Given the description of an element on the screen output the (x, y) to click on. 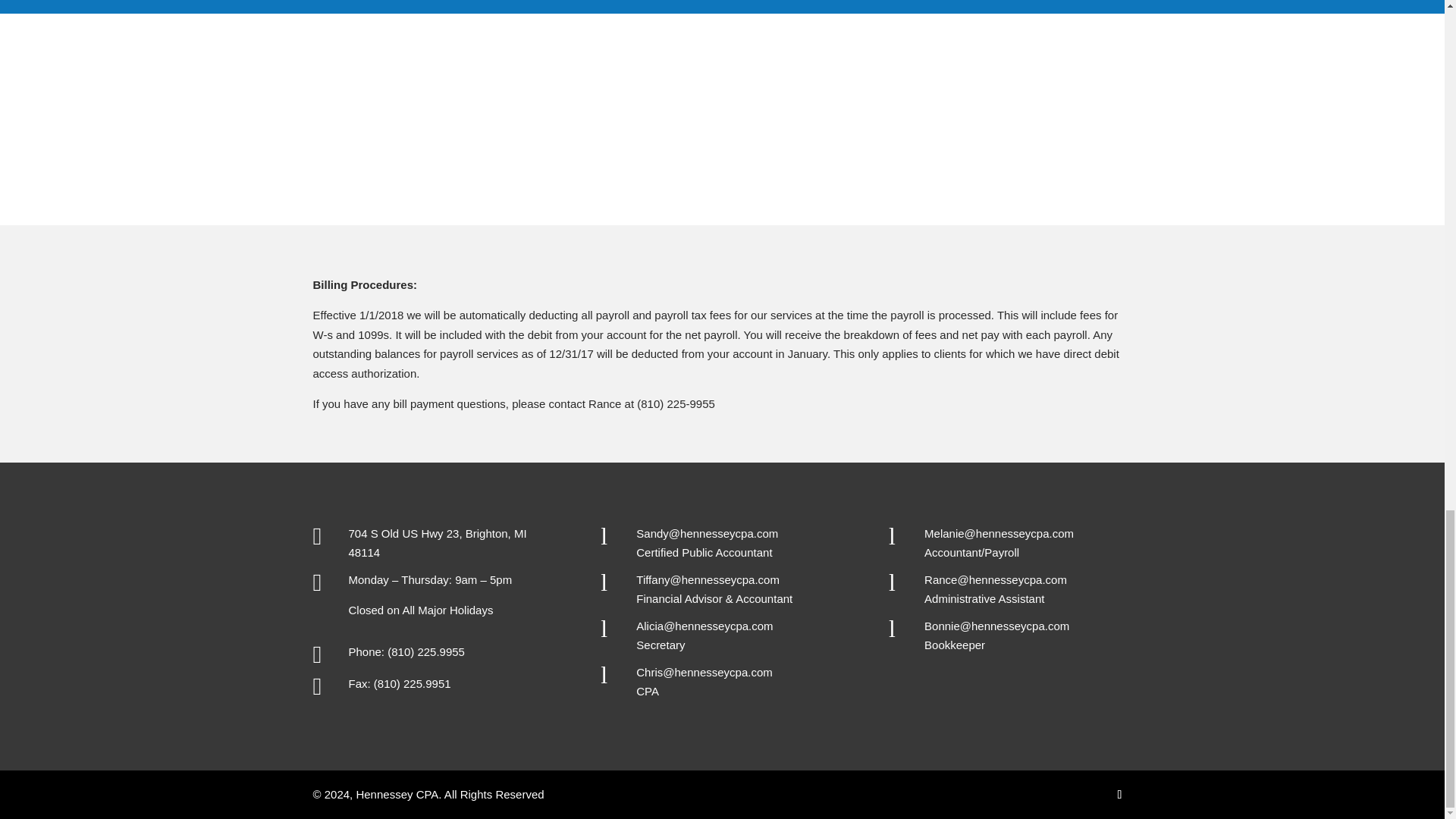
Follow on Facebook (1118, 794)
